Given the description of an element on the screen output the (x, y) to click on. 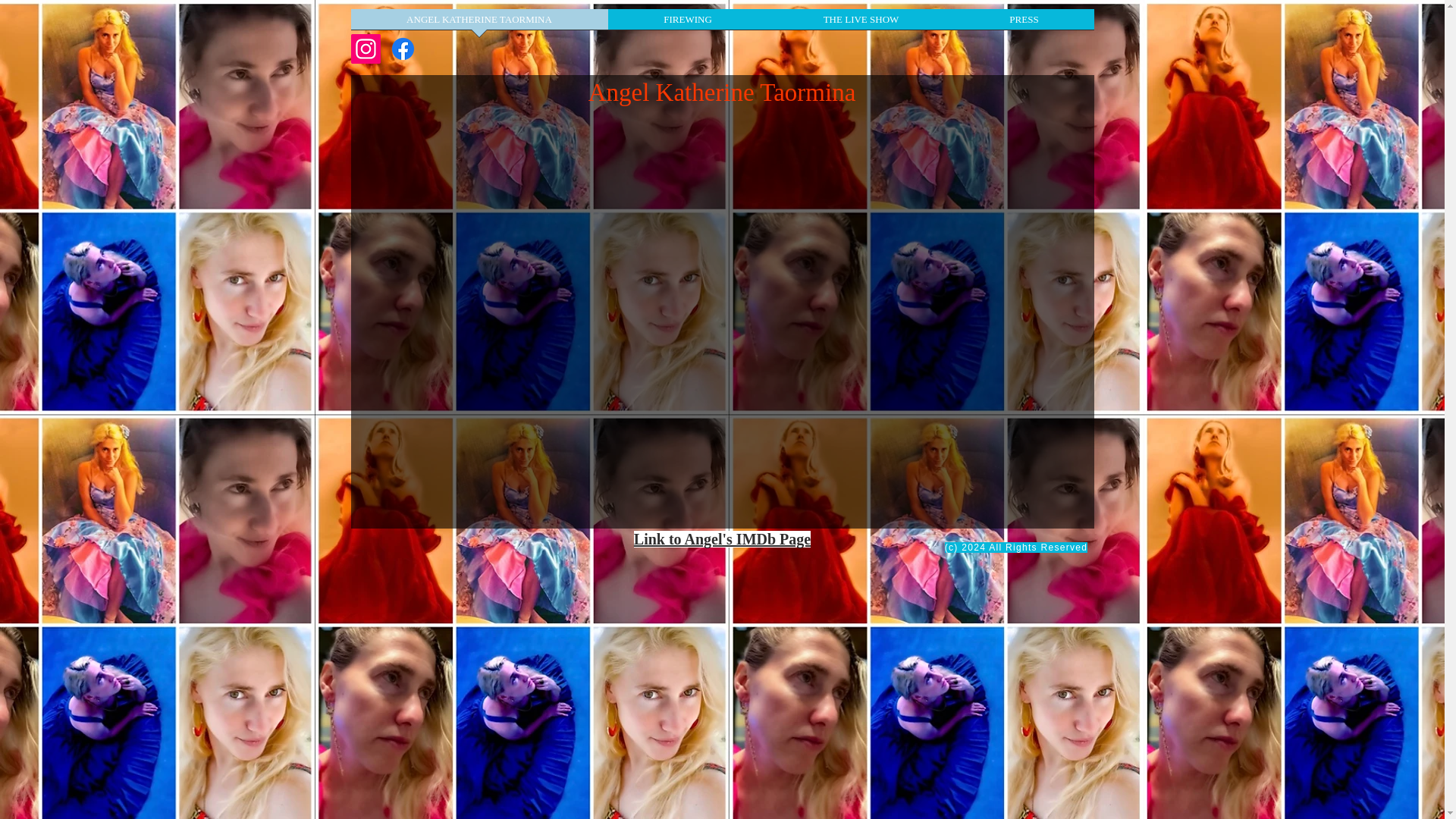
FIREWING (688, 24)
ANGEL KATHERINE TAORMINA (478, 24)
PRESS (1023, 24)
THE LIVE SHOW (860, 24)
Link to Angel's IMDb Page (721, 538)
